Given the description of an element on the screen output the (x, y) to click on. 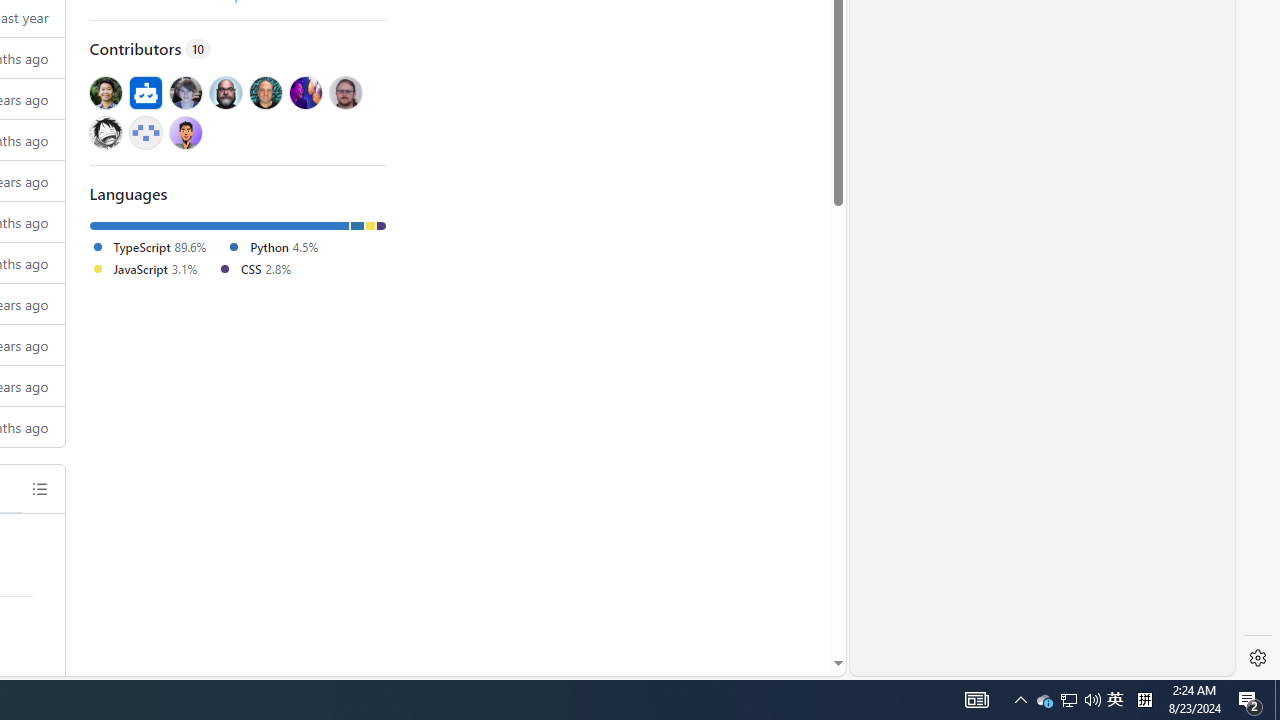
@mstrzele (145, 132)
CSS2.8% (262, 269)
@paul-hammant (265, 92)
@coderberry (224, 92)
@Haroenv (305, 92)
@paul-hammant (265, 92)
@aranciokov (345, 92)
@web3Gurung (185, 132)
@aranciokov (345, 92)
@mstrzele (145, 132)
Class: mb-2 mr-2 (185, 132)
@dependabot[bot] (145, 92)
@dependabot[bot] (145, 92)
@sy-records (105, 132)
@sy-records (105, 132)
